Given the description of an element on the screen output the (x, y) to click on. 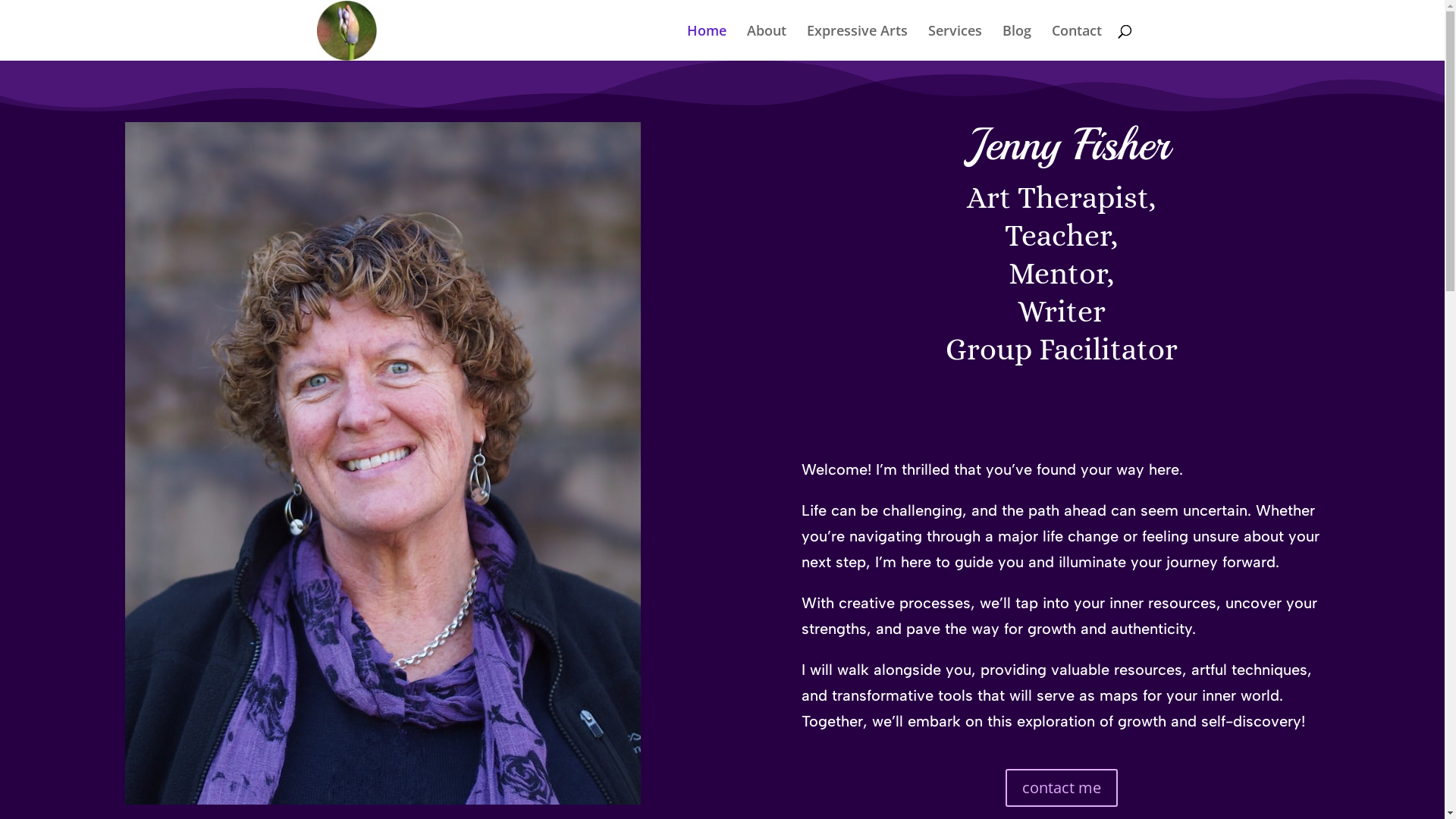
Jenny Fisher Expressive Art facilitator Element type: hover (382, 463)
Contact Element type: text (1076, 42)
Services Element type: text (955, 42)
contact me Element type: text (1061, 787)
Blog Element type: text (1016, 42)
Home Element type: text (706, 42)
Expressive Arts Element type: text (856, 42)
About Element type: text (765, 42)
